Given the description of an element on the screen output the (x, y) to click on. 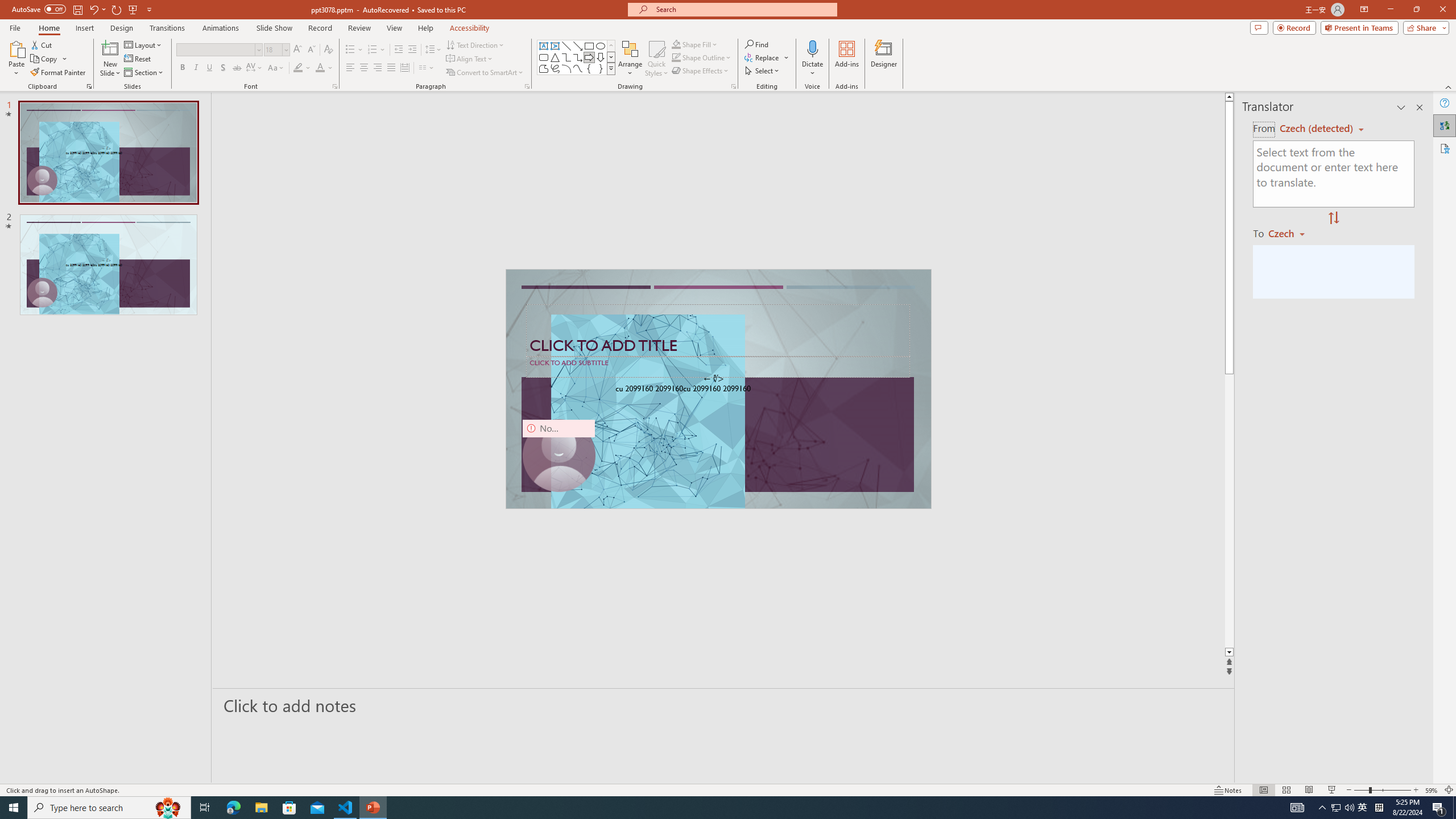
An abstract genetic concept (718, 388)
Zoom 59% (1431, 790)
